Given the description of an element on the screen output the (x, y) to click on. 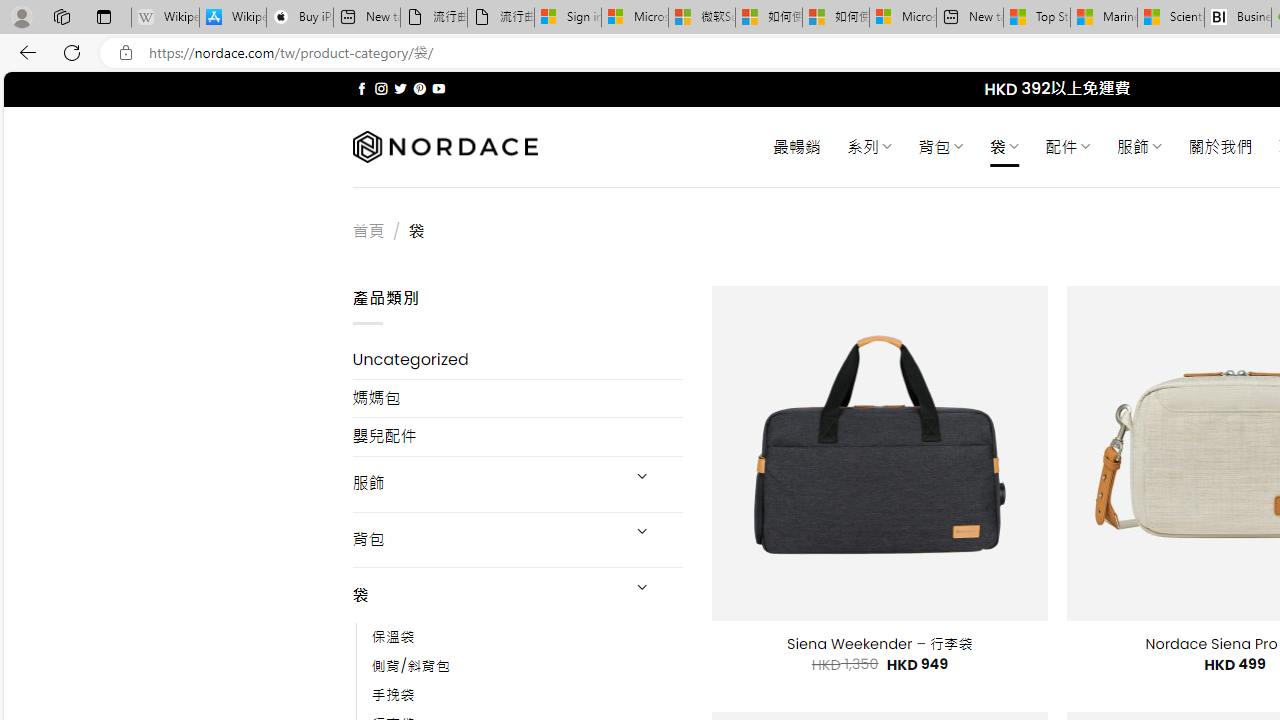
Marine life - MSN (1103, 17)
Top Stories - MSN (1036, 17)
